Given the description of an element on the screen output the (x, y) to click on. 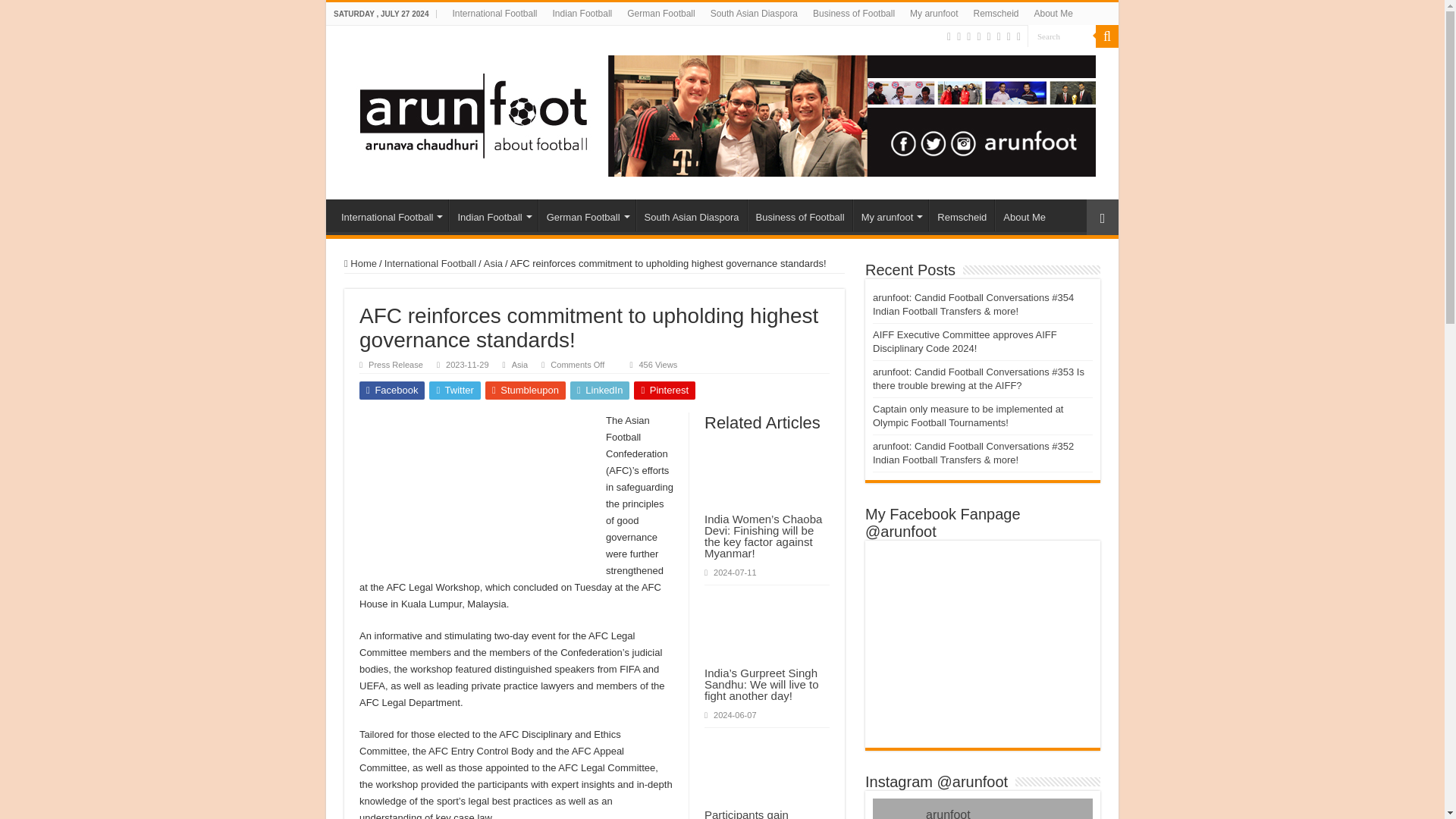
International Football (390, 214)
Search (1107, 36)
Search (1061, 35)
International Football (494, 13)
About Me (1053, 13)
German Football (660, 13)
Search (1061, 35)
Search (1061, 35)
My arunfoot (933, 13)
Indian Football (582, 13)
Remscheid (995, 13)
Business of Football (853, 13)
South Asian Diaspora (754, 13)
